Given the description of an element on the screen output the (x, y) to click on. 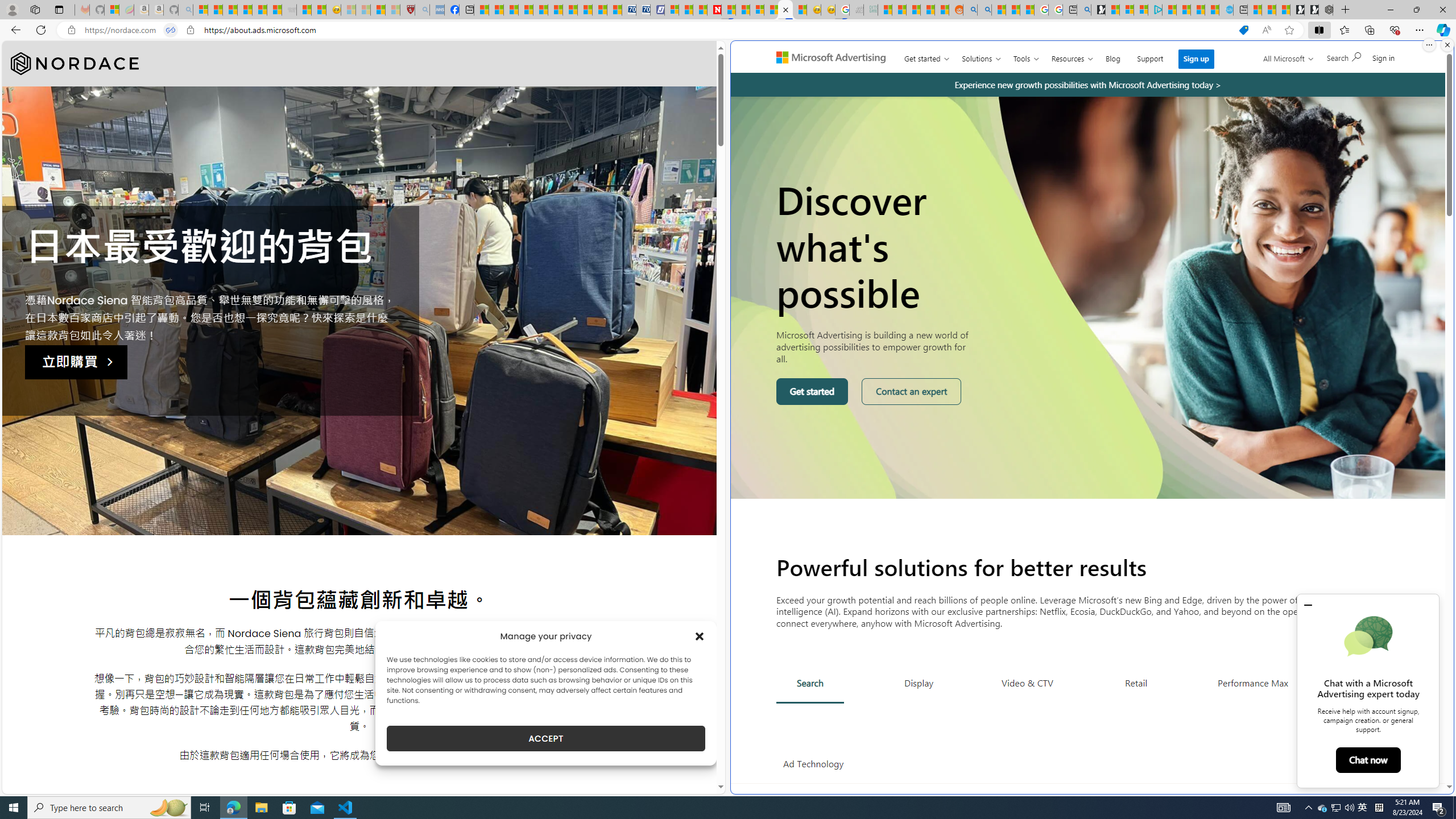
Microsoft account | Privacy (1140, 9)
14 Common Myths Debunked By Scientific Facts (742, 9)
Contact an expert (911, 391)
Sign up (1195, 59)
Workspaces (34, 9)
App bar (728, 29)
Cheap Car Rentals - Save70.com (628, 9)
